Given the description of an element on the screen output the (x, y) to click on. 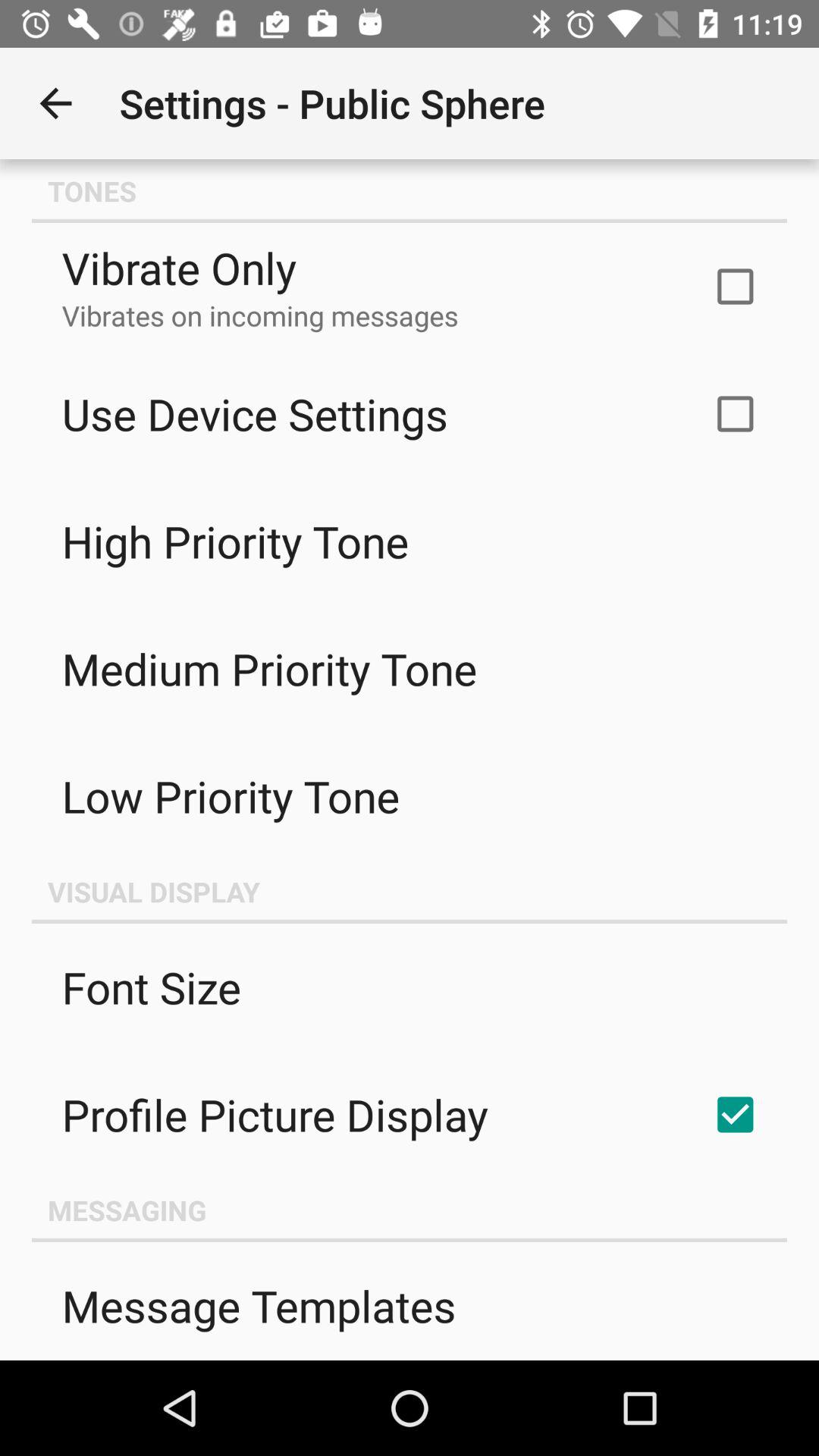
launch the item to the left of settings - public sphere item (55, 103)
